Given the description of an element on the screen output the (x, y) to click on. 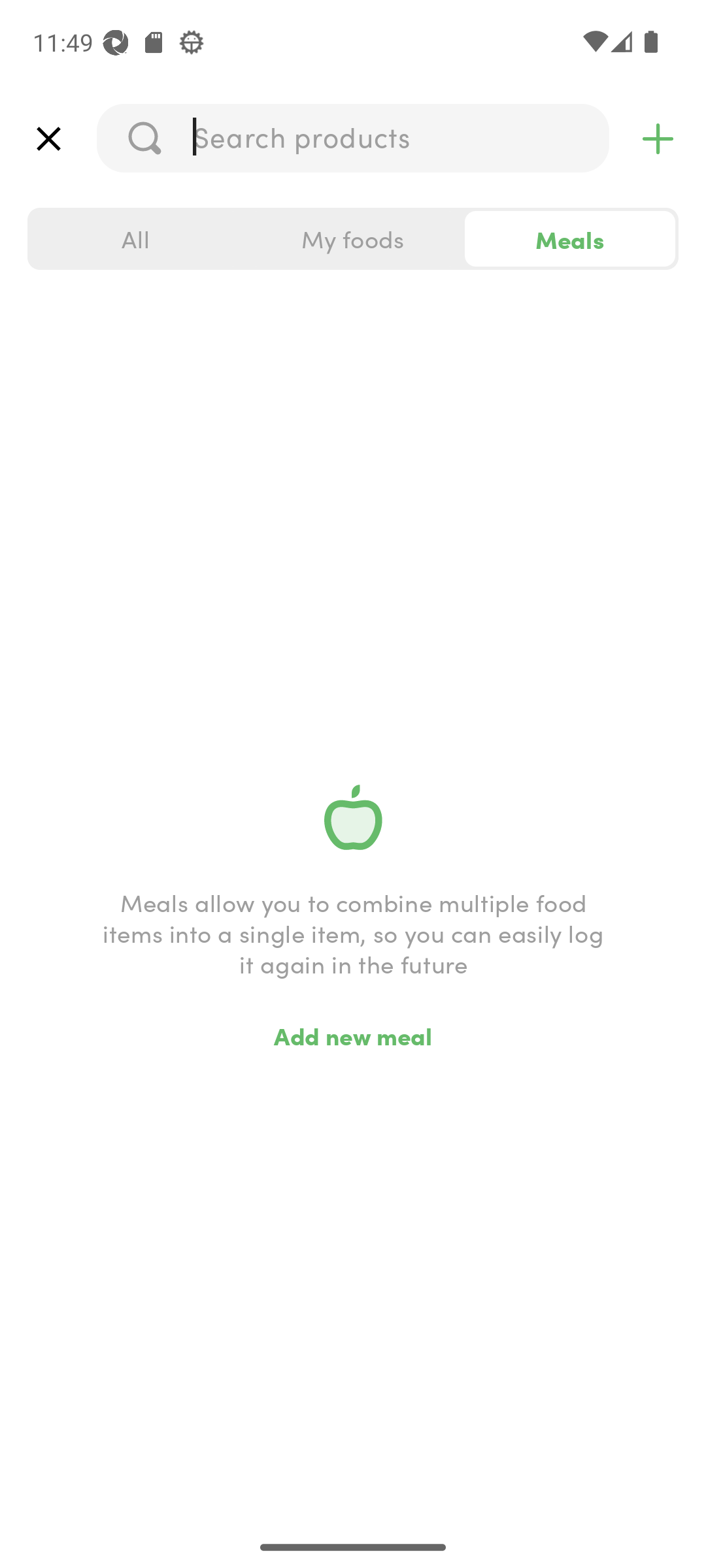
top_left_action (48, 138)
top_right_action (658, 138)
All (136, 238)
My foods (352, 238)
Add new meal (352, 1035)
